Given the description of an element on the screen output the (x, y) to click on. 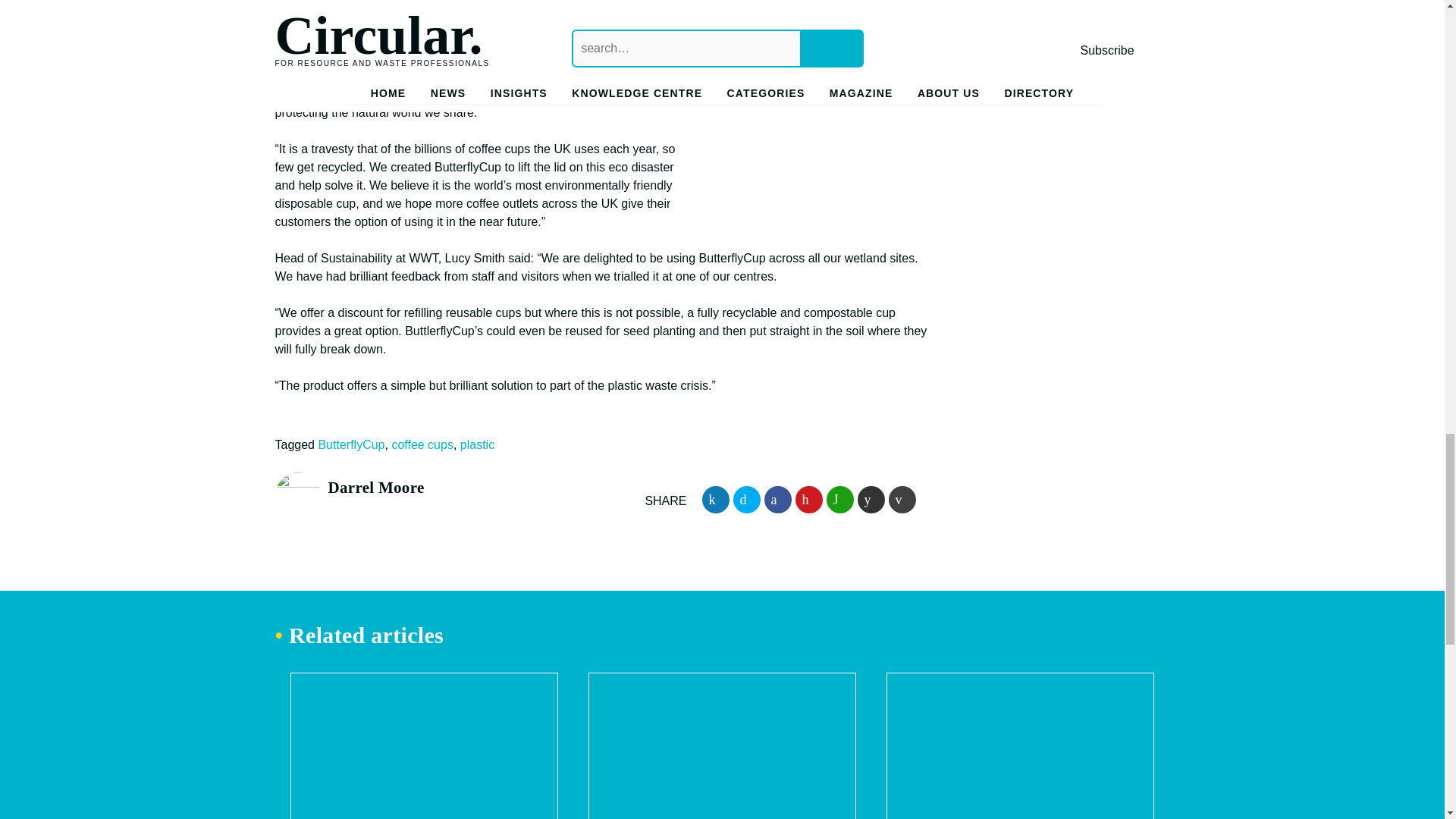
Share on Pinterest (808, 499)
Share on Email (901, 499)
Share on WhatsApp (840, 499)
Share on Twitter (746, 499)
Share on LinkedIn (715, 499)
Share on Reddit (870, 499)
Share on Facebook (778, 499)
